Given the description of an element on the screen output the (x, y) to click on. 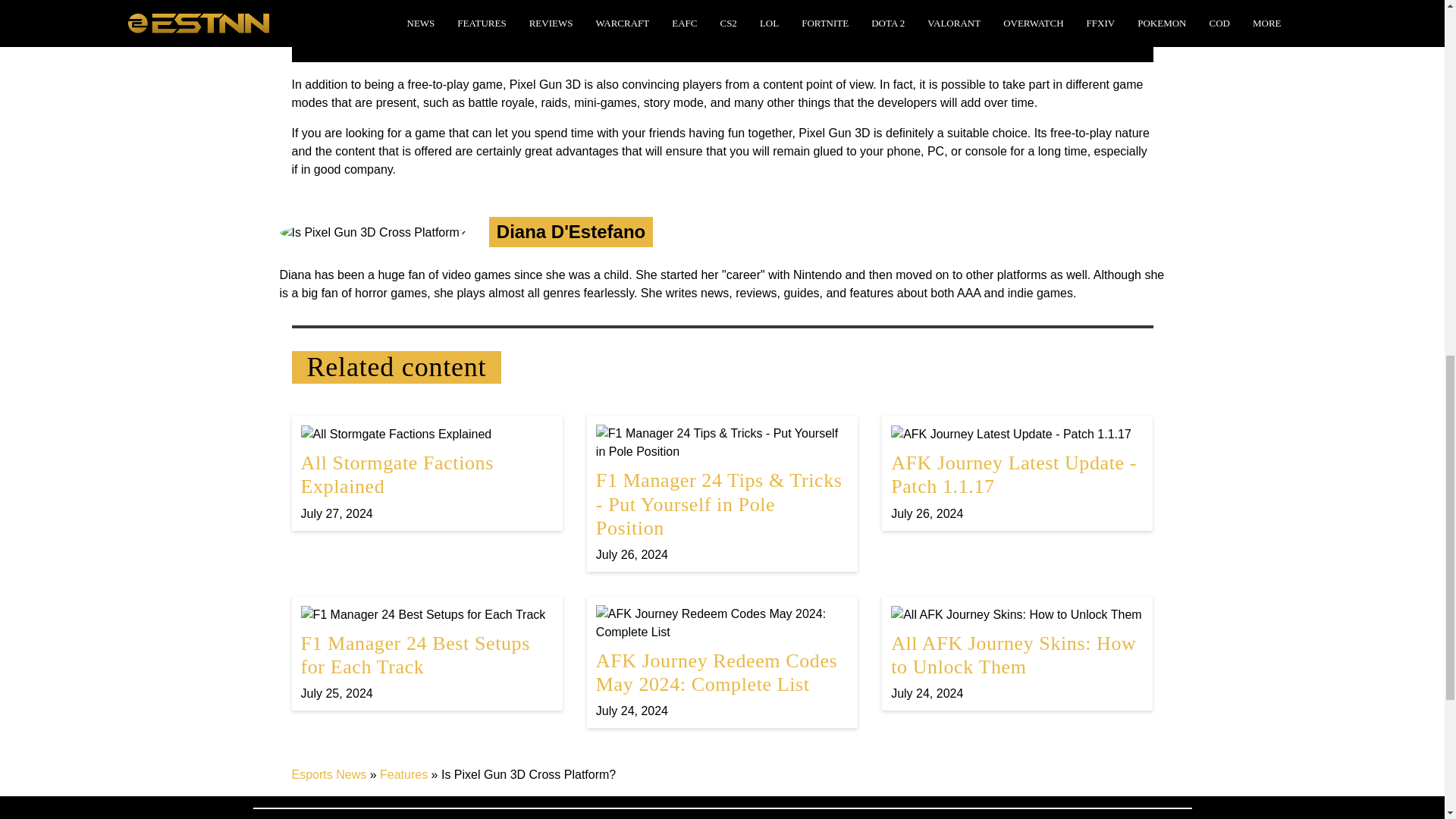
AFK Journey Redeem Codes May 2024: Complete List (721, 662)
All Stormgate Factions Explained (426, 472)
All AFK Journey Skins: How to Unlock Them (426, 653)
AFK Journey Latest Update - Patch 1.1.17 (1016, 653)
Esports News (1016, 472)
Diana D'Estefano (1016, 653)
F1 Manager 24 Best Setups for Each Track (722, 31)
Features (328, 774)
